Given the description of an element on the screen output the (x, y) to click on. 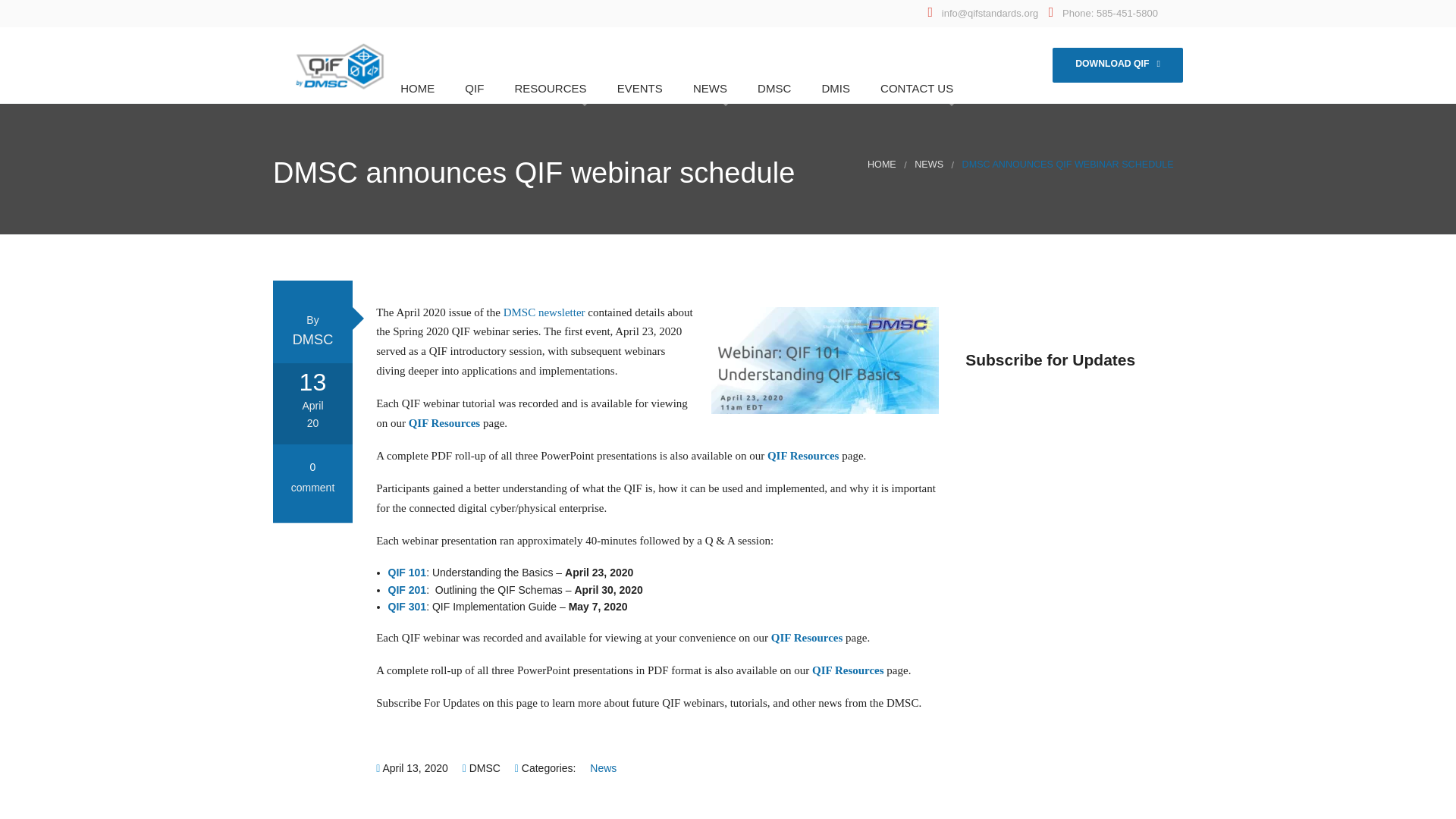
DMSC (771, 88)
QIF Resources (807, 637)
News (602, 767)
Newsletter Archive (735, 155)
Resources (556, 125)
HOME (881, 163)
NEWS (928, 163)
QIF (471, 88)
QIF 101 (407, 572)
RESOURCES (547, 88)
